Given the description of an element on the screen output the (x, y) to click on. 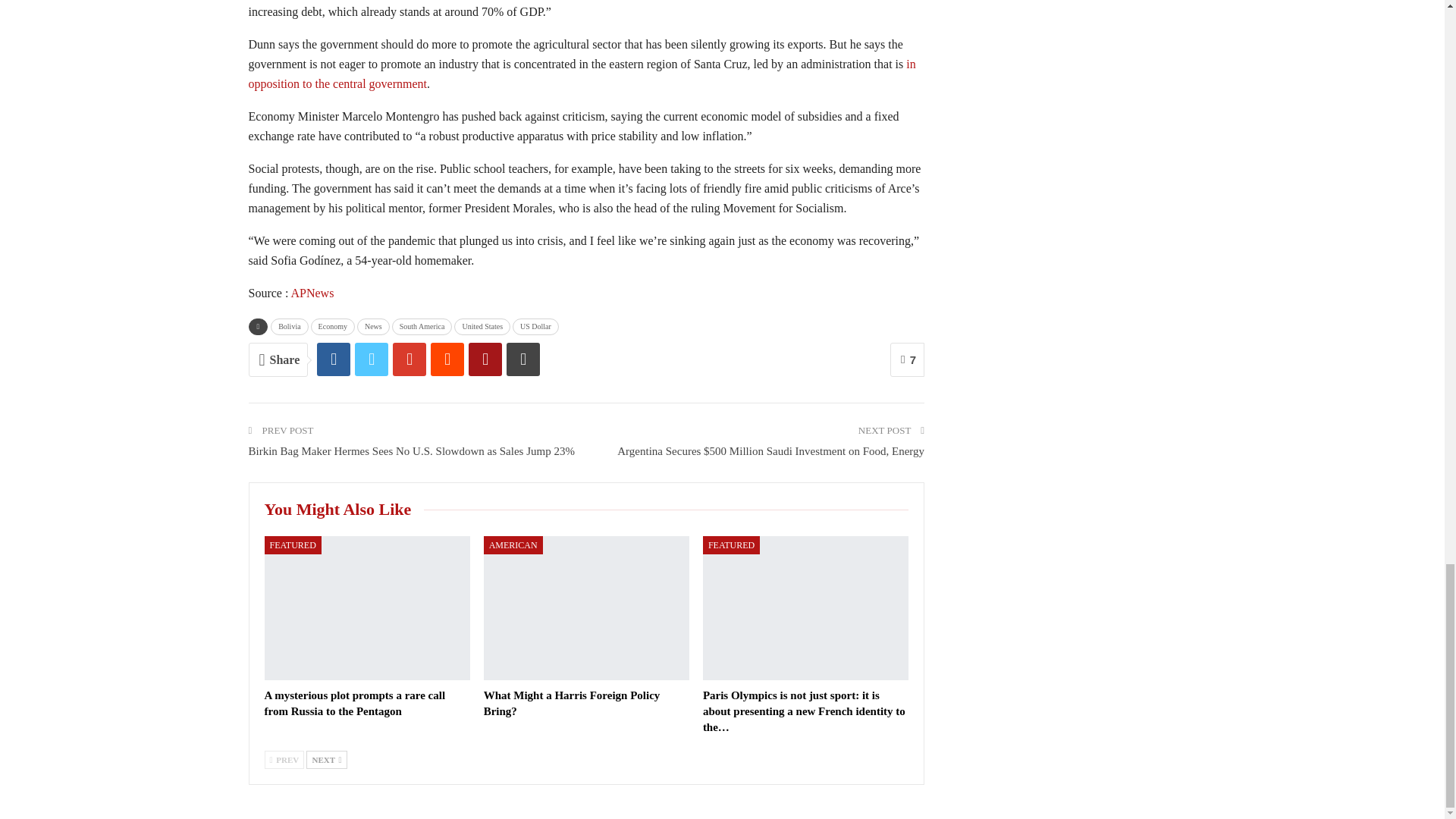
What Might a Harris Foreign Policy Bring? (585, 608)
Next (325, 760)
Previous (283, 760)
What Might a Harris Foreign Policy Bring? (572, 703)
